Given the description of an element on the screen output the (x, y) to click on. 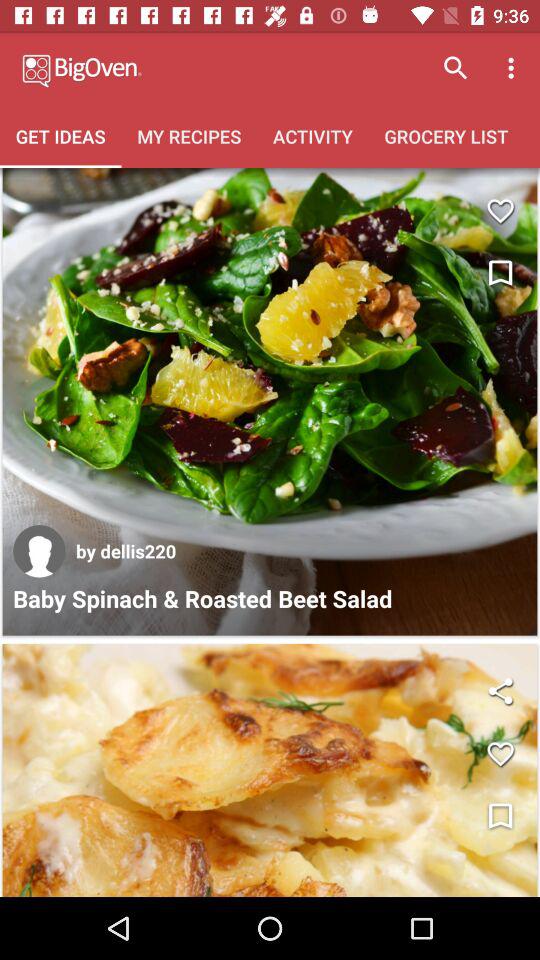
turn off the icon next to by dellis220 item (39, 551)
